Given the description of an element on the screen output the (x, y) to click on. 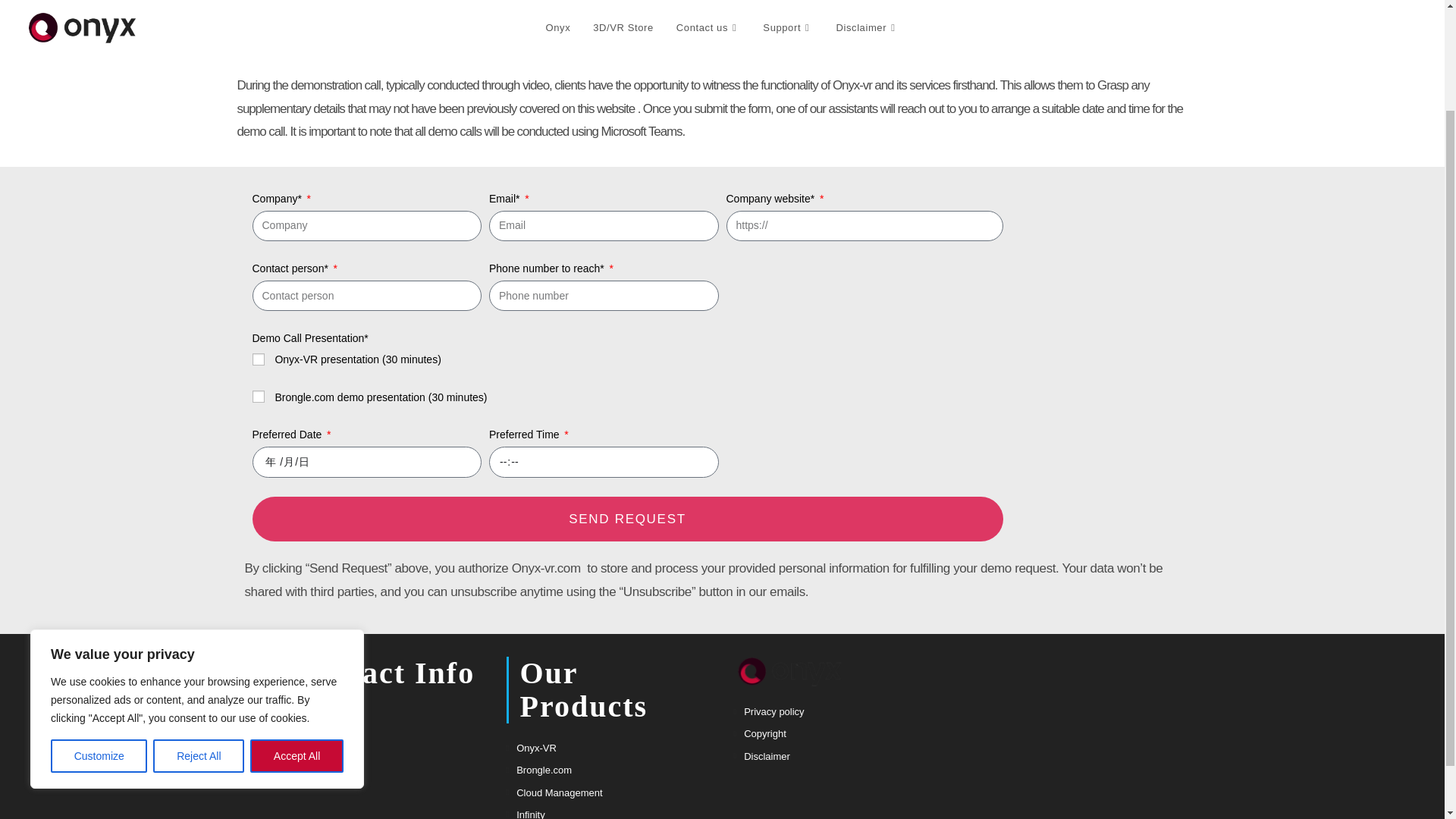
Customize (98, 631)
Accept All (296, 631)
Copyright (759, 733)
Cloud Management (554, 792)
Reject All (198, 631)
Onyx-VR (531, 747)
support (337, 727)
SEND REQUEST (627, 518)
Contact (338, 772)
Brongle.com (539, 769)
Privacy policy (769, 711)
